Given the description of an element on the screen output the (x, y) to click on. 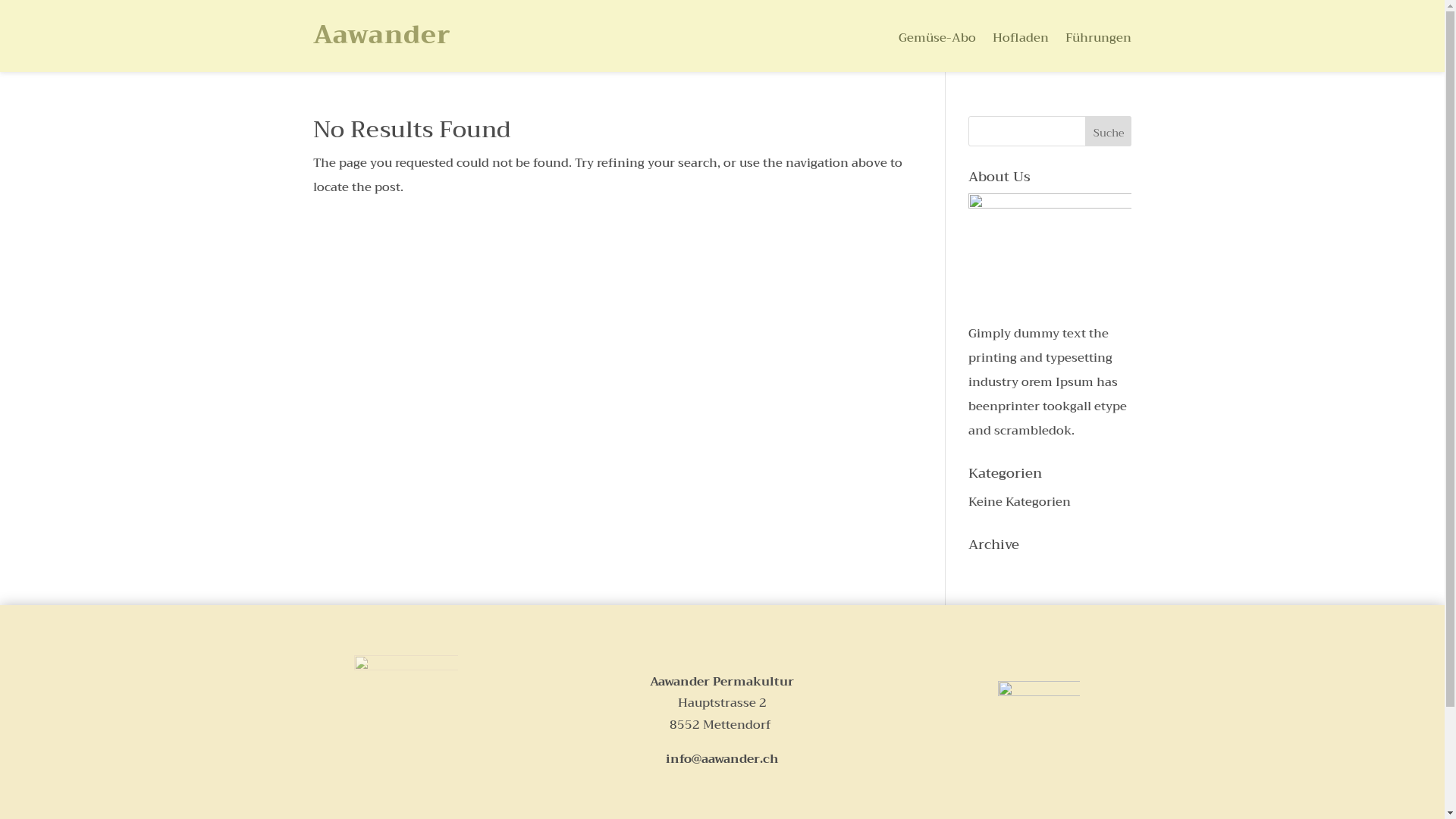
Hofladen Element type: text (1020, 40)
Suche Element type: text (1108, 131)
Swissveg-Card-Partner Element type: hover (1038, 711)
